Given the description of an element on the screen output the (x, y) to click on. 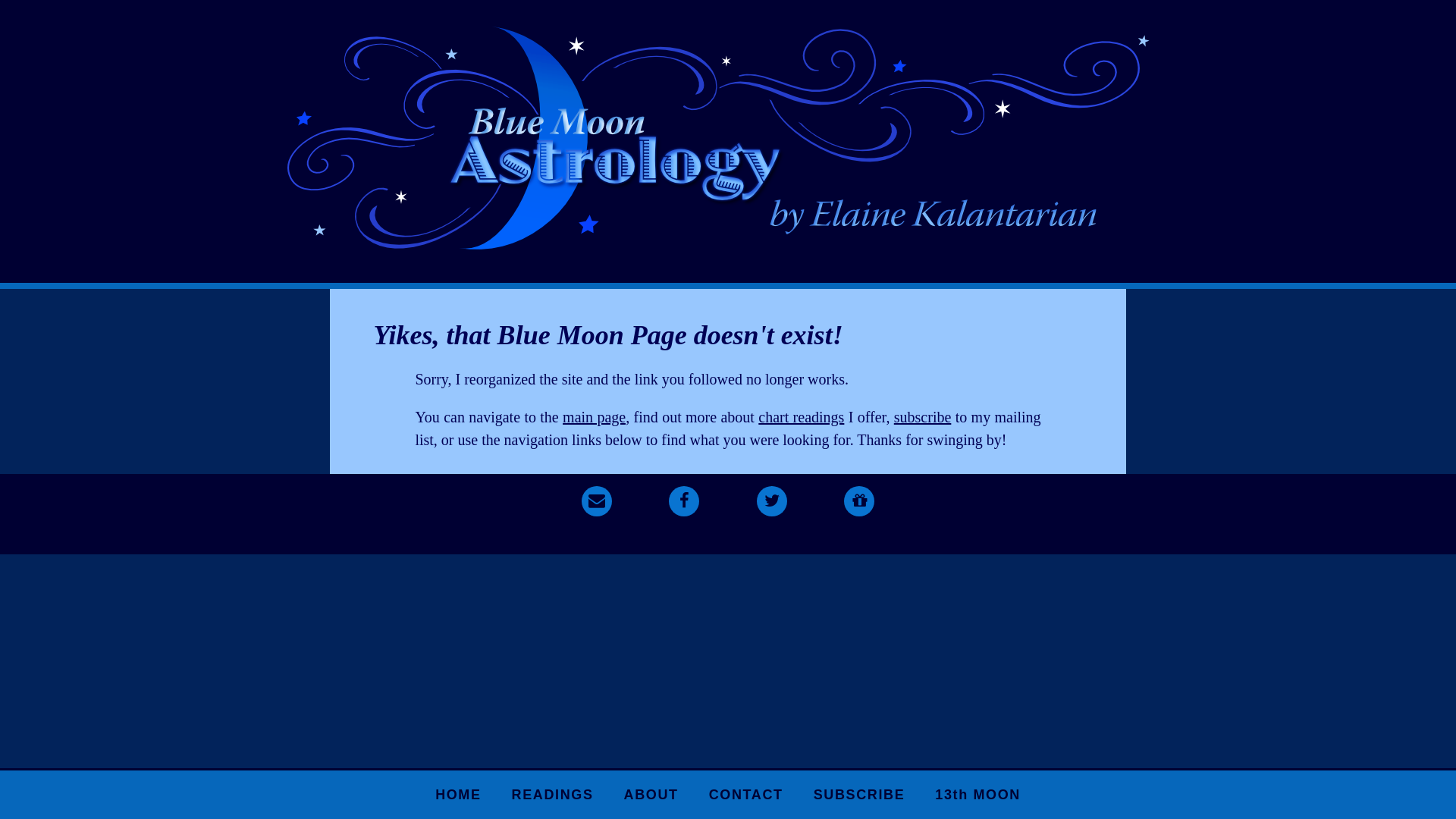
Email Blue Moon Element type: hover (596, 500)
CONTACT Element type: text (745, 794)
READINGS Element type: text (552, 794)
ABOUT Element type: text (650, 794)
13th MOON Element type: text (977, 794)
subscribe Element type: text (922, 415)
chart readings Element type: text (801, 415)
Follow on Facebook Element type: hover (683, 500)
HOME Element type: text (457, 794)
main page, Element type: text (595, 415)
SUBSCRIBE Element type: text (859, 794)
Gratitude Donation - Thank You! Element type: hover (859, 500)
Follow on Twitter Element type: hover (771, 500)
